Given the description of an element on the screen output the (x, y) to click on. 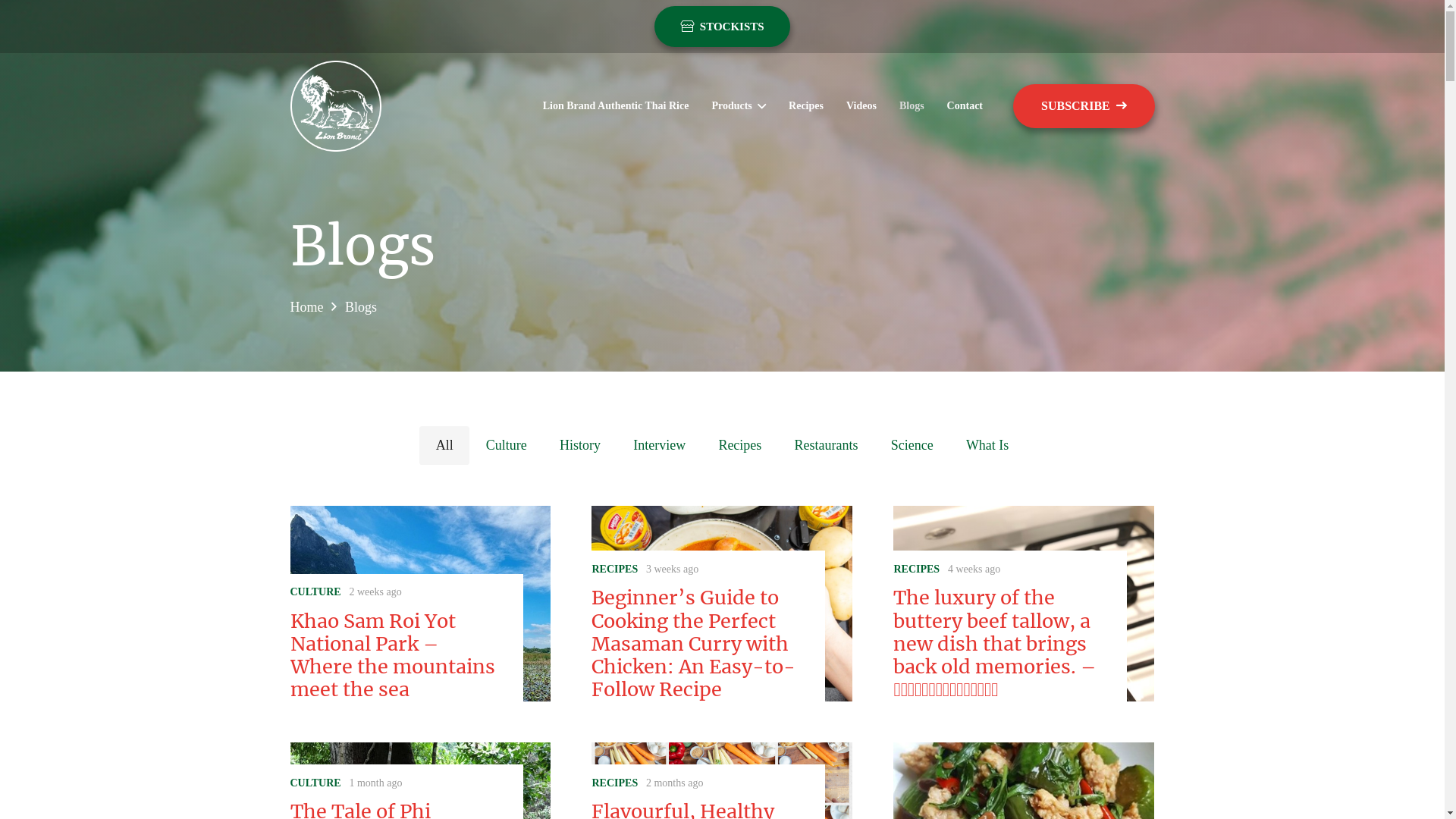
CULTURE Element type: text (314, 591)
Lion Brand Authentic Thai Rice Element type: text (615, 106)
Contact Element type: text (964, 106)
Interview Element type: text (659, 445)
Videos Element type: text (861, 106)
All Element type: text (444, 445)
CULTURE Element type: text (314, 782)
What Is Element type: text (987, 445)
Science Element type: text (911, 445)
Blogs Element type: text (911, 106)
Restaurants Element type: text (826, 445)
Blogs Element type: text (360, 306)
Recipes Element type: text (740, 445)
RECIPES Element type: text (614, 568)
Recipes Element type: text (805, 106)
History Element type: text (579, 445)
RECIPES Element type: text (614, 782)
RECIPES Element type: text (916, 568)
Products Element type: text (738, 106)
SUBSCRIBE Element type: text (1083, 106)
Culture Element type: text (505, 445)
Home Element type: text (306, 306)
STOCKISTS Element type: text (722, 26)
